Given the description of an element on the screen output the (x, y) to click on. 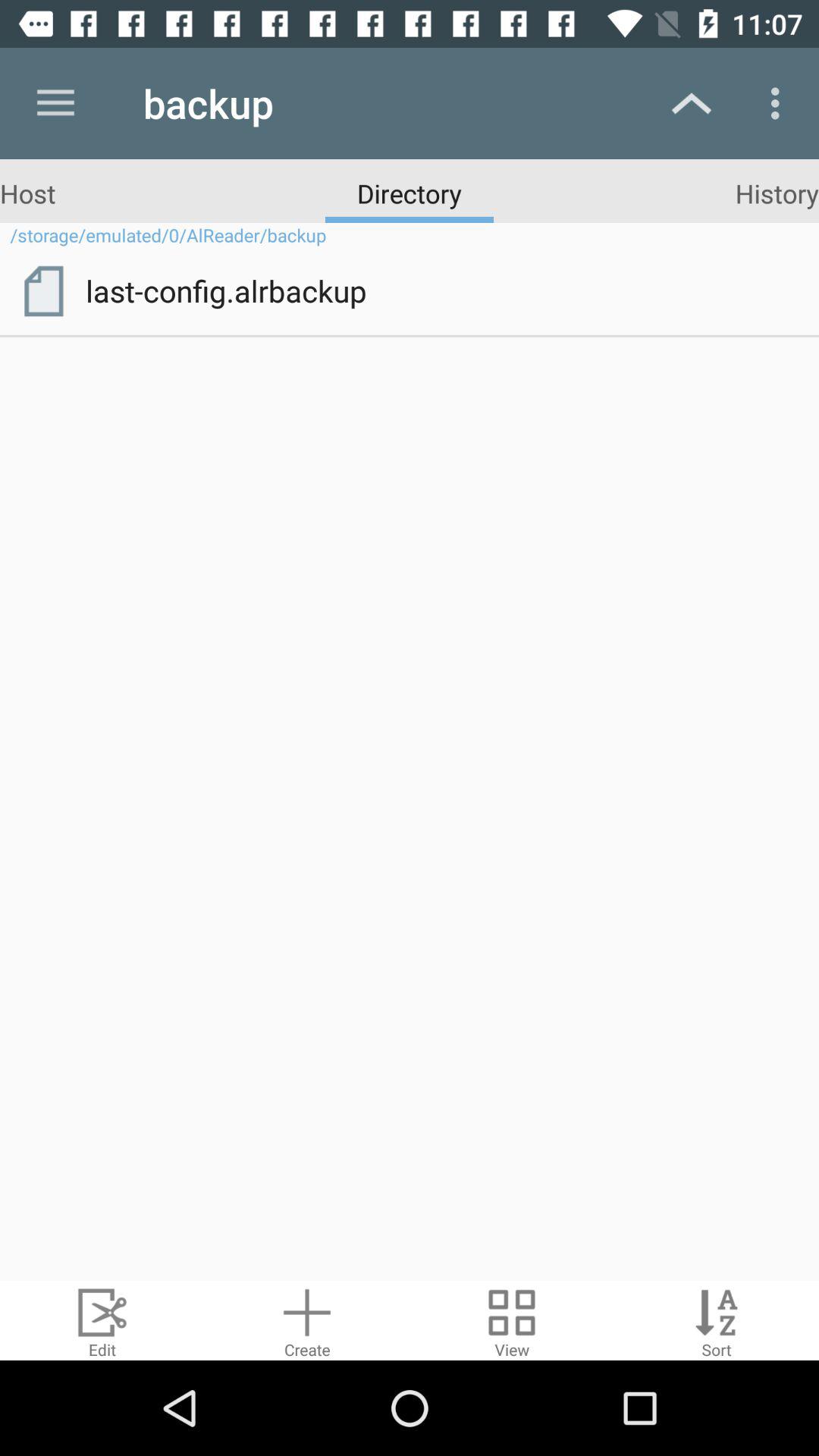
view page as thumbnail grid (511, 1320)
